Given the description of an element on the screen output the (x, y) to click on. 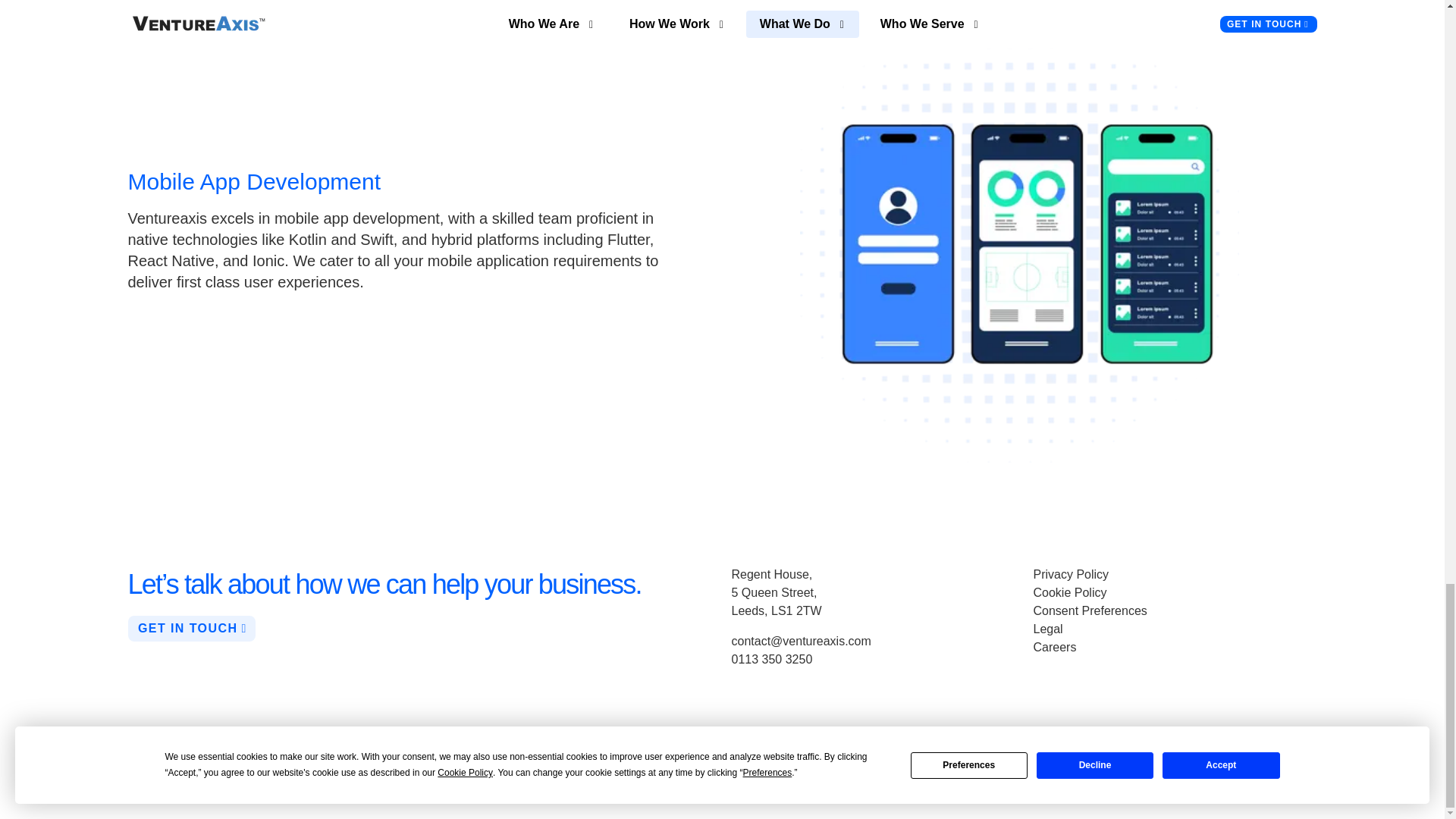
Privacy Policy (1070, 574)
GET IN TOUCH (192, 628)
Venture Axis telephone (771, 658)
Legal (1047, 628)
Consent Preferences (1089, 610)
Venture Axis email (800, 640)
Careers (1053, 646)
0113 350 3250 (771, 658)
Cookie Policy (1069, 592)
